Given the description of an element on the screen output the (x, y) to click on. 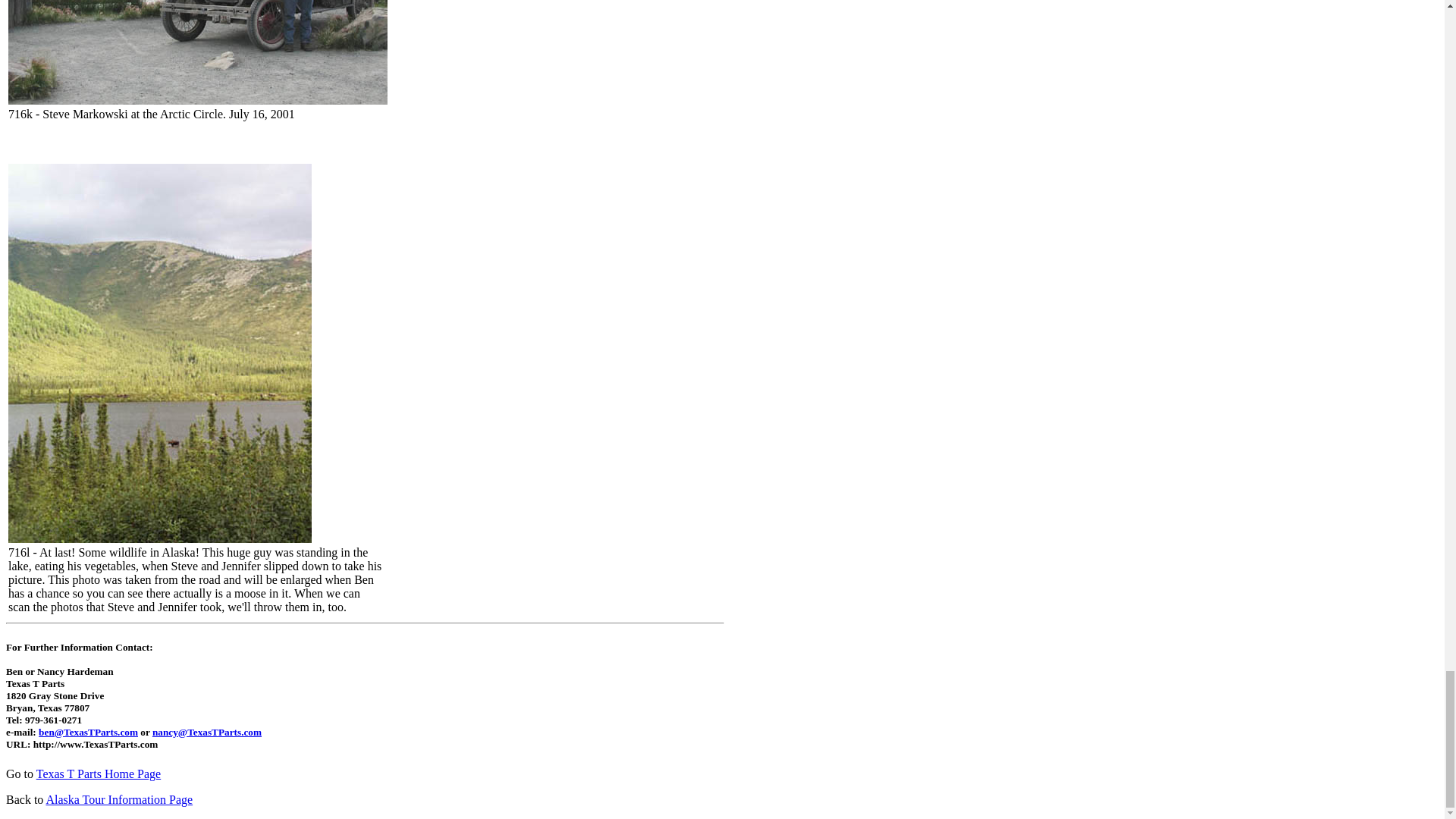
Texas T Parts Home Page (98, 773)
Alaska Tour Information Page (118, 799)
